Given the description of an element on the screen output the (x, y) to click on. 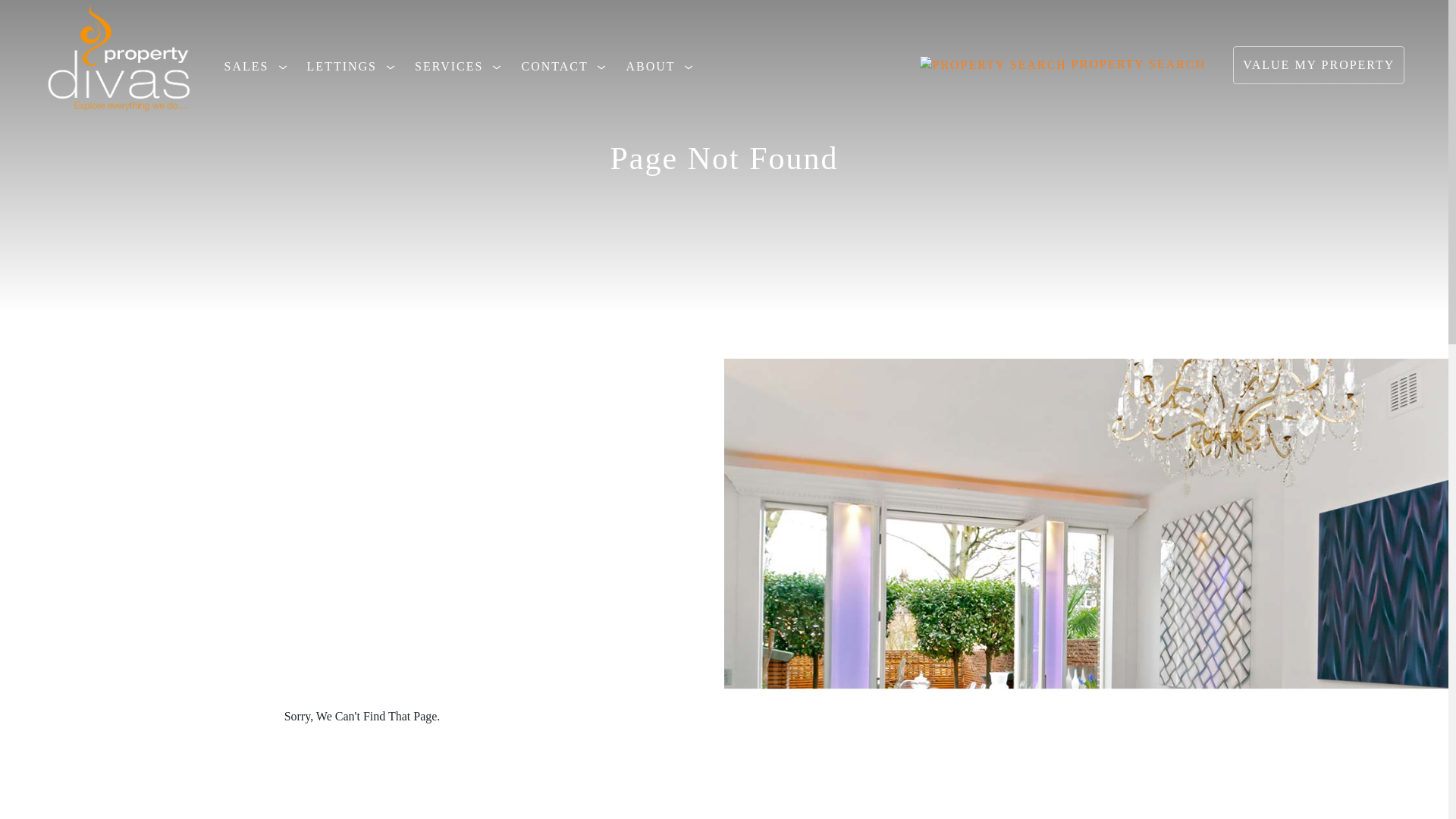
SERVICES (462, 66)
SALES (259, 66)
LETTINGS (355, 66)
VALUE MY PROPERTY (1319, 64)
PROPERTY SEARCH (1062, 63)
CONTACT (567, 66)
ABOUT (663, 66)
